Given the description of an element on the screen output the (x, y) to click on. 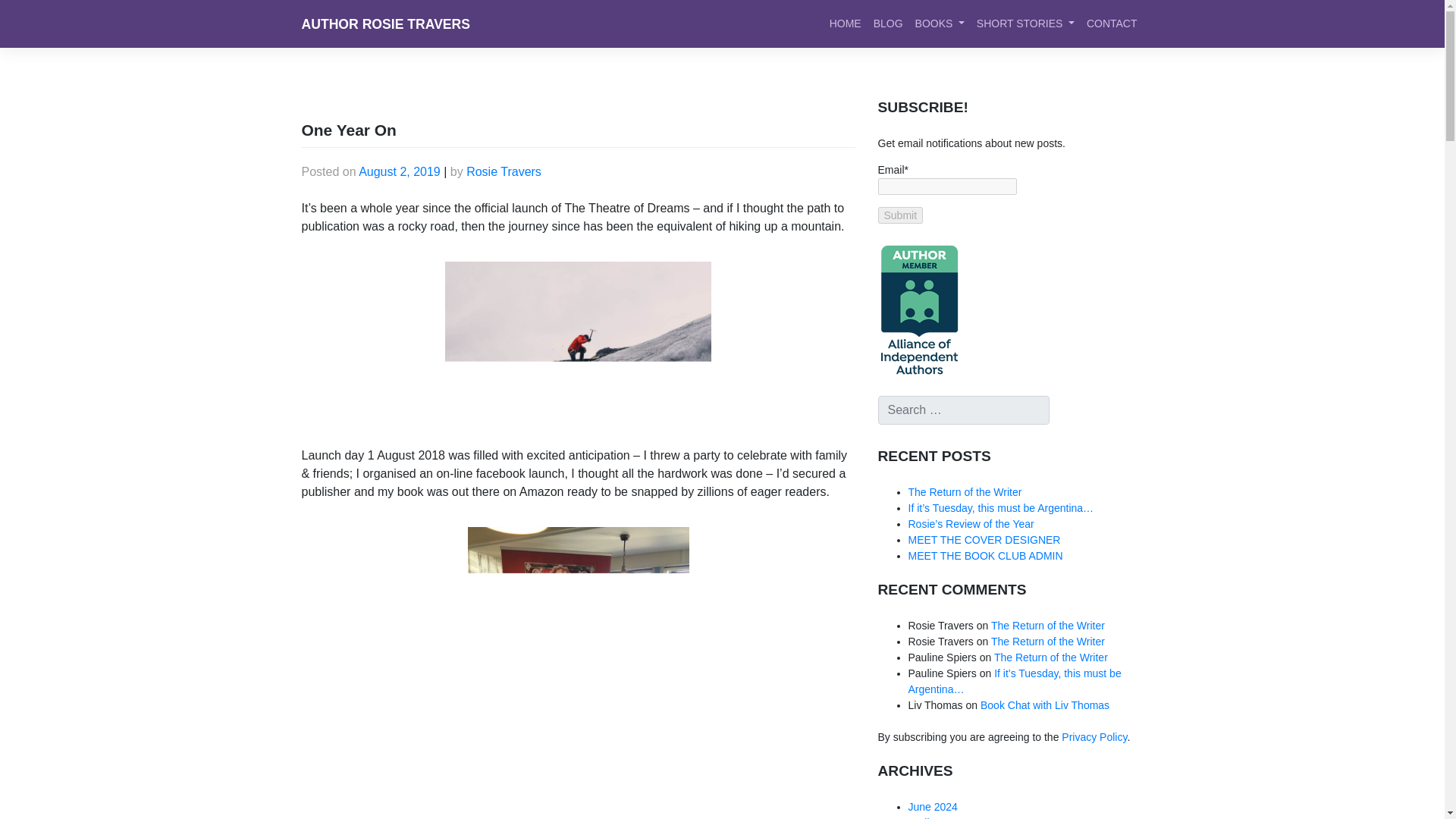
AUTHOR ROSIE TRAVERS (385, 23)
Blog (887, 23)
BLOG (887, 23)
Contact (1111, 23)
Home (845, 23)
Books (939, 23)
BOOKS (939, 23)
August 2, 2019 (399, 171)
Submit (900, 215)
Submit (900, 215)
Rosie Travers (503, 171)
CONTACT (1111, 23)
Short stories (1025, 23)
HOME (845, 23)
SHORT STORIES (1025, 23)
